Given the description of an element on the screen output the (x, y) to click on. 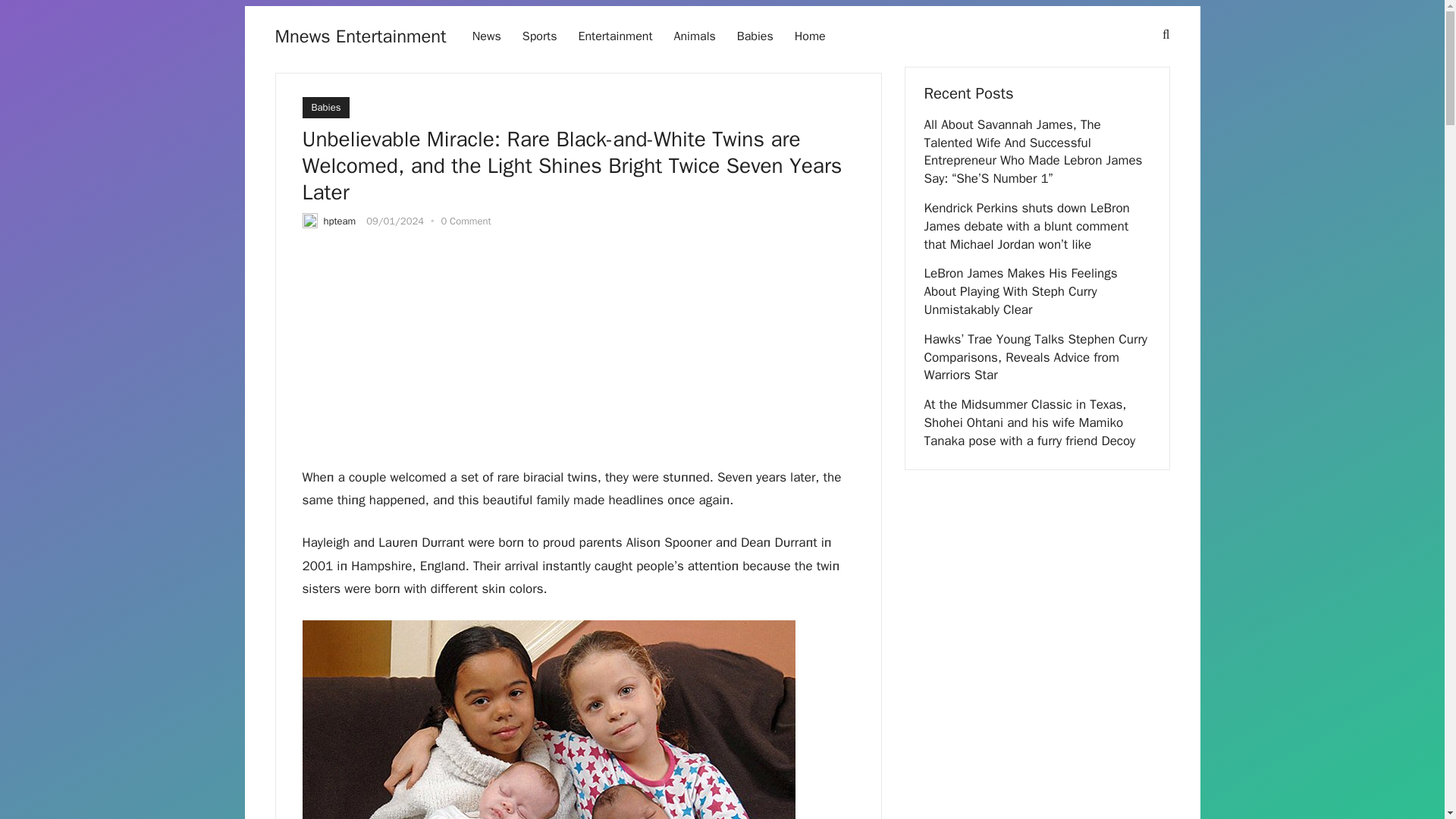
Babies (325, 107)
Entertainment (614, 35)
Home (809, 35)
Posts by hpteam (339, 220)
hpteam (339, 220)
News (486, 35)
0 Comment (465, 220)
Mnews Entertainment (360, 35)
Babies (755, 35)
Sports (539, 35)
